Given the description of an element on the screen output the (x, y) to click on. 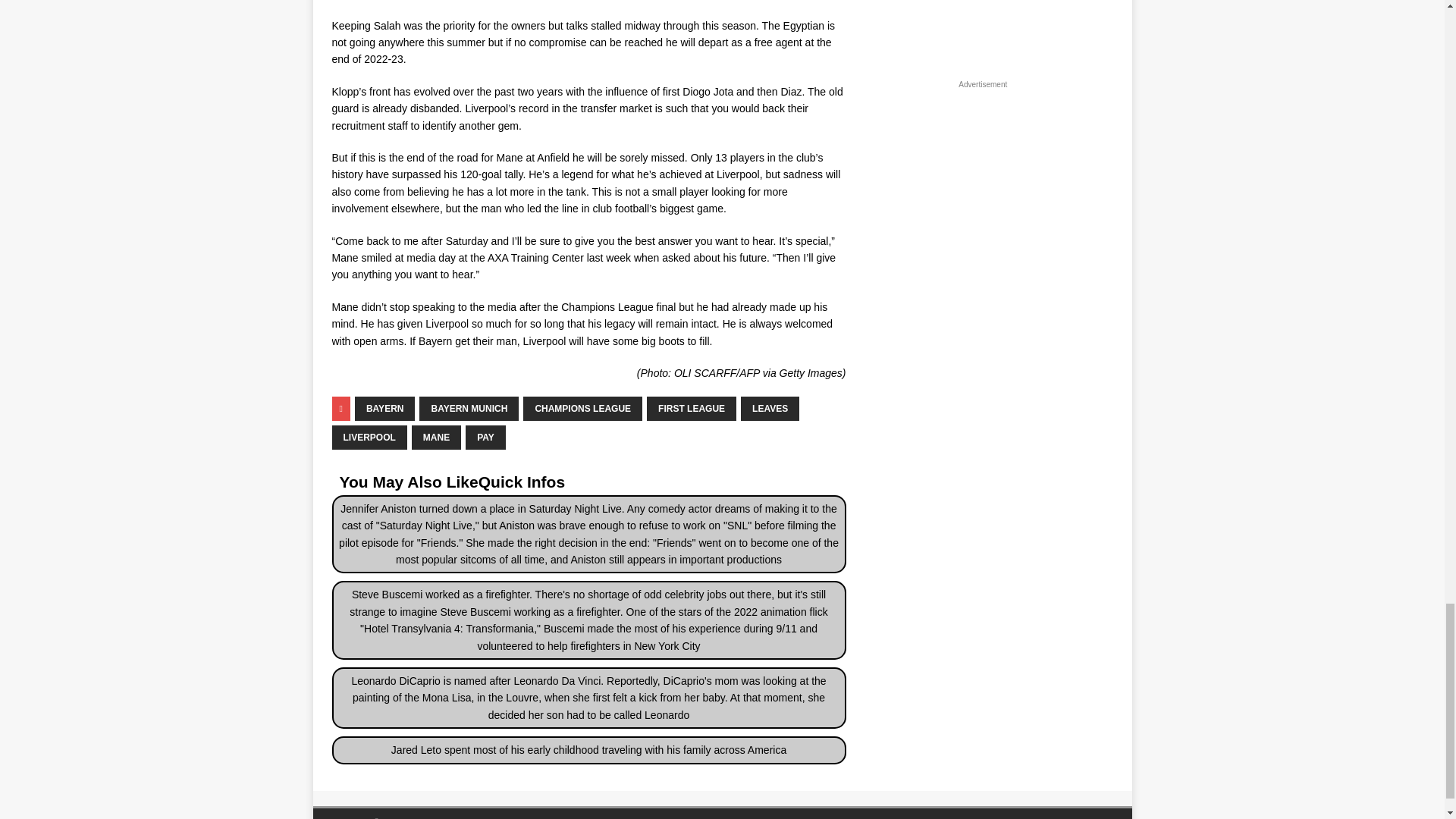
FIRST LEAGUE (691, 408)
MANE (436, 437)
BAYERN MUNICH (468, 408)
LIVERPOOL (369, 437)
CHAMPIONS LEAGUE (582, 408)
BAYERN (384, 408)
LEAVES (770, 408)
PAY (485, 437)
